Given the description of an element on the screen output the (x, y) to click on. 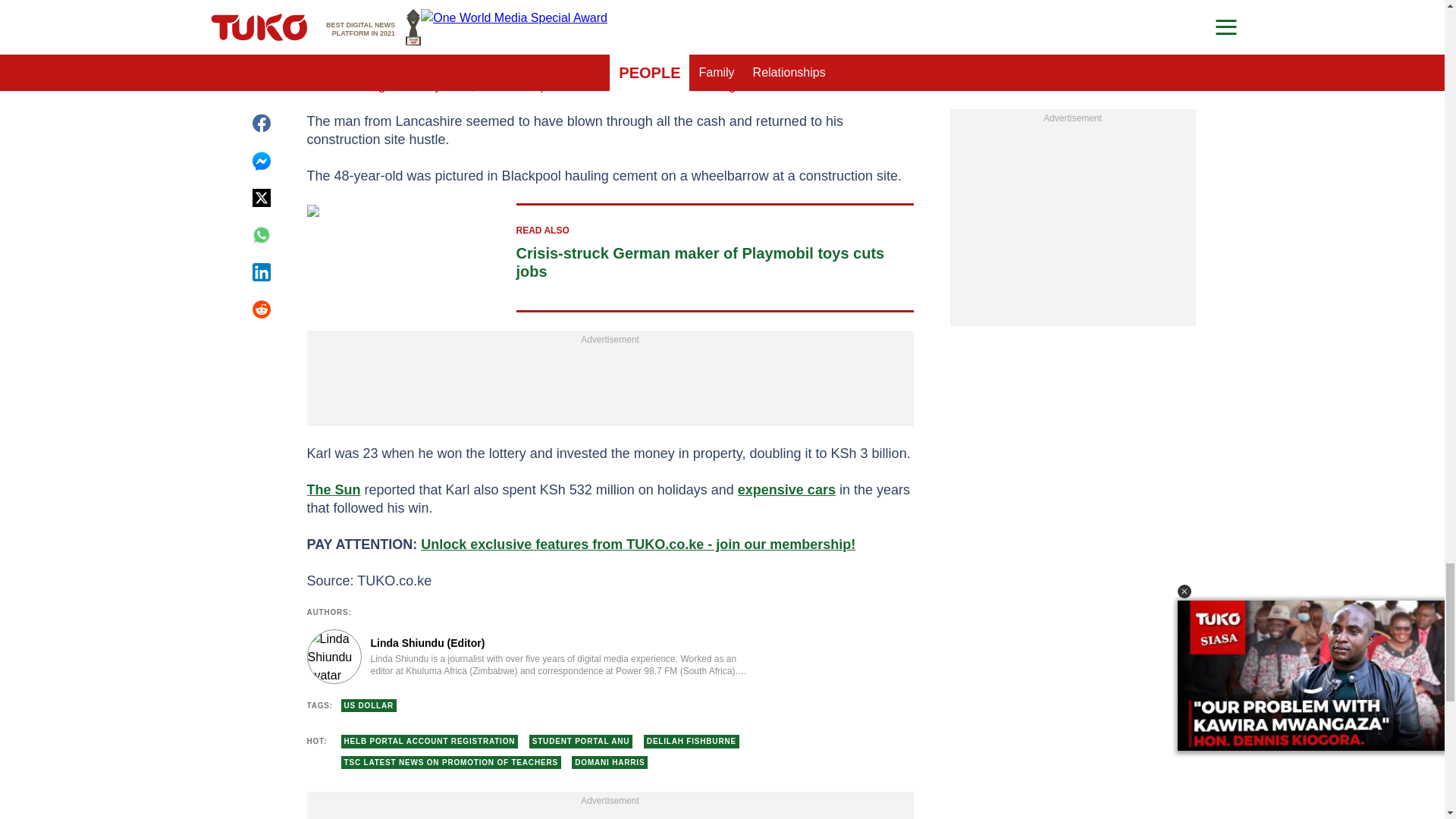
Author page (533, 656)
